Given the description of an element on the screen output the (x, y) to click on. 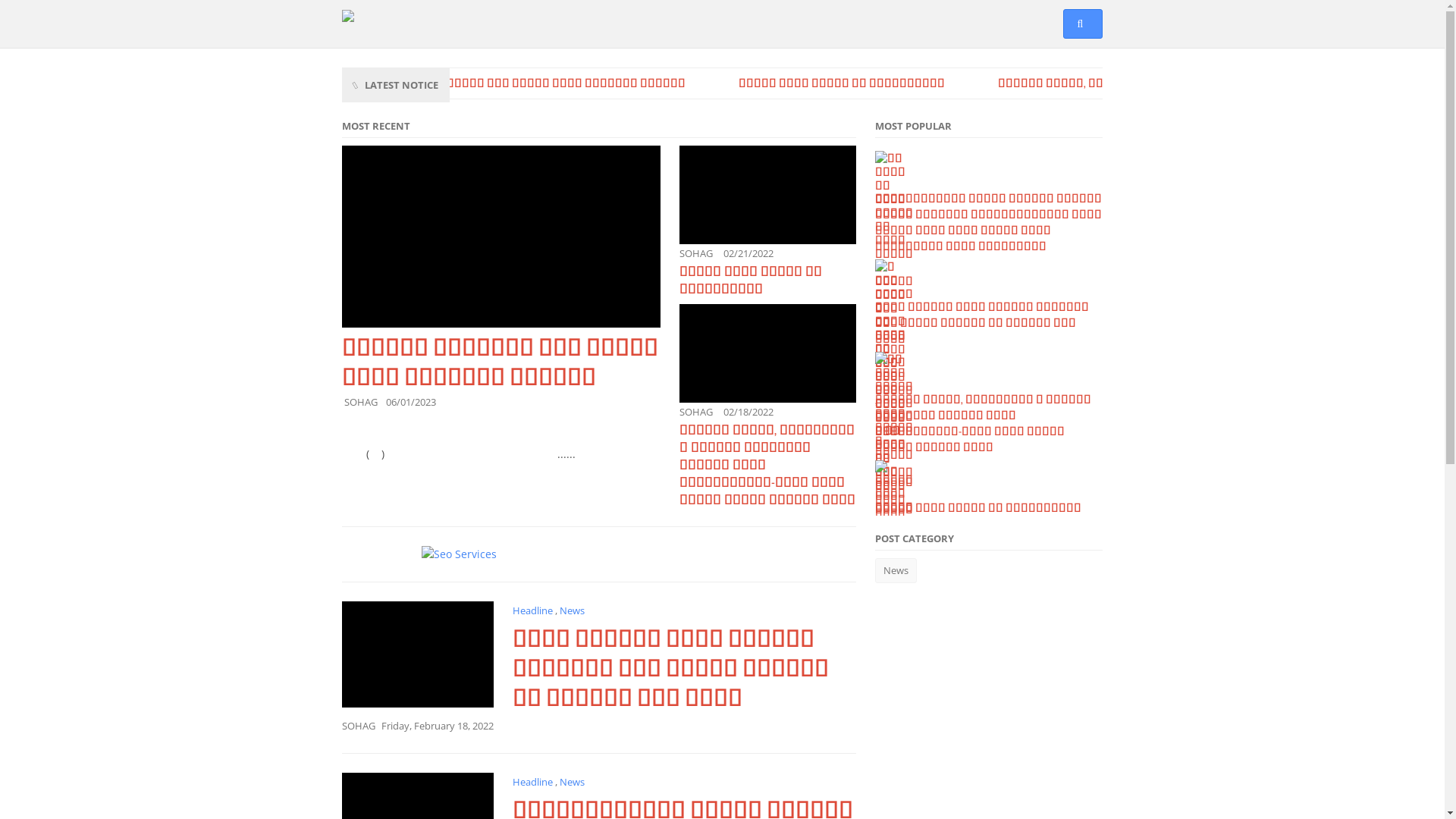
Headline Element type: text (533, 781)
Headline Element type: text (533, 610)
LATEST NOTICE Element type: text (401, 84)
News Element type: text (571, 610)
News Element type: text (895, 570)
News Element type: text (571, 781)
